Given the description of an element on the screen output the (x, y) to click on. 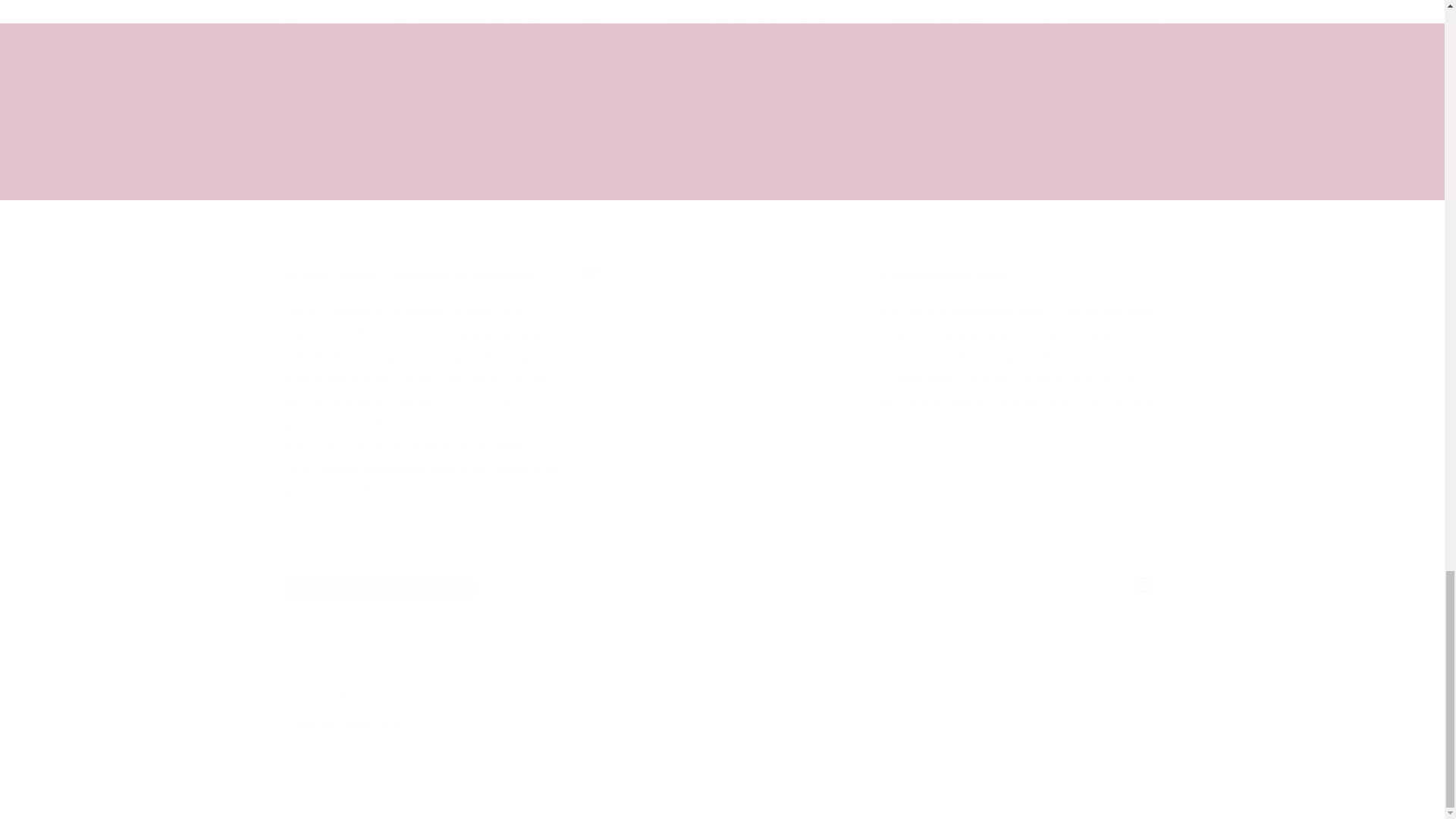
Dated Inserts (721, 19)
Undated Inserts (385, 27)
Email (609, 27)
Instagram (722, 176)
Lifestyle Inserts (721, 584)
Notepads (834, 27)
